Given the description of an element on the screen output the (x, y) to click on. 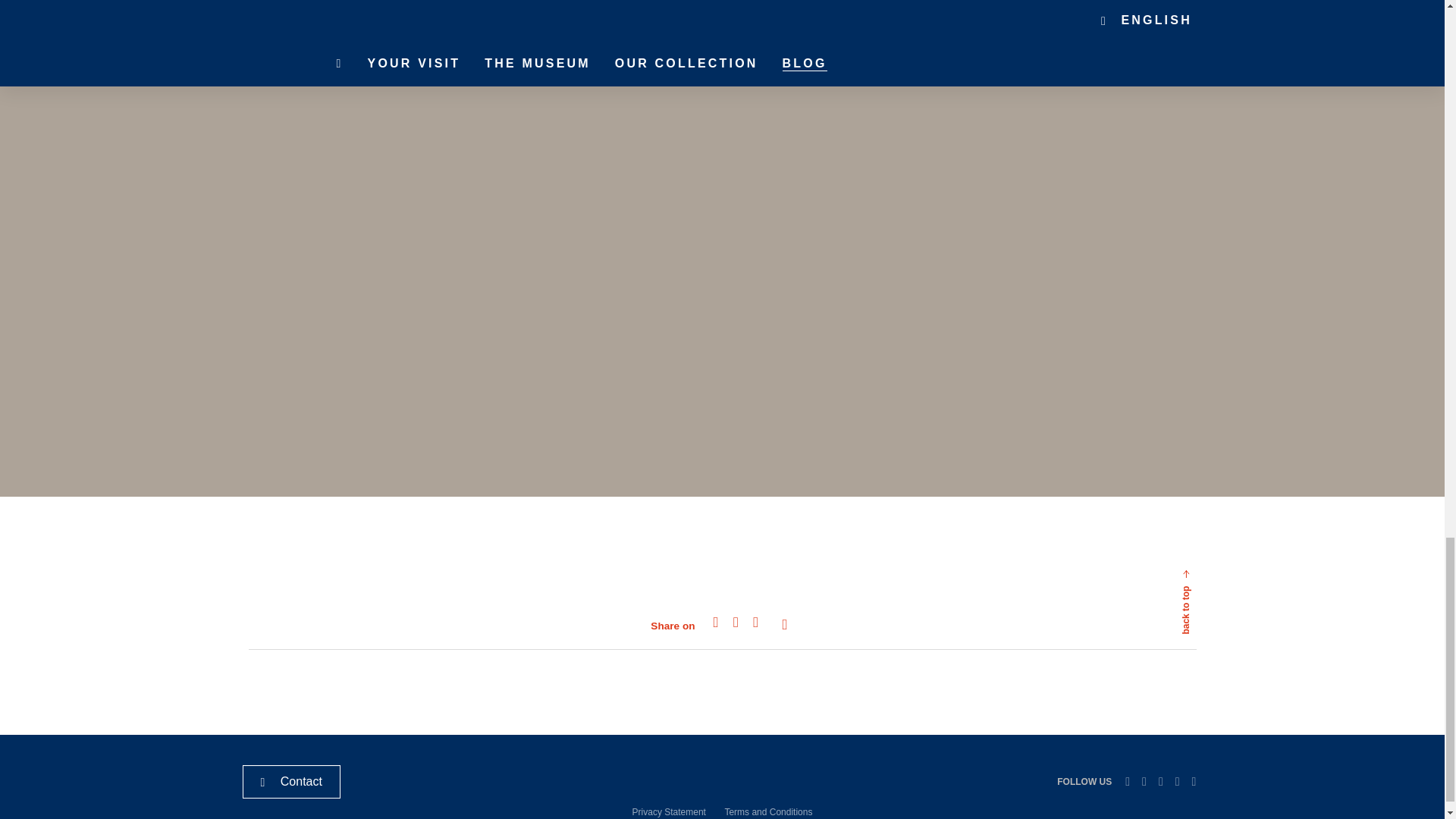
YouTube (1194, 781)
back to top (1150, 624)
Privacy Statement (668, 811)
Terms and Conditions (767, 811)
LinkedIn (1127, 781)
back to top (1222, 552)
Contact (291, 781)
Instagram (1177, 781)
Twitter (1144, 781)
back to top (1222, 552)
Facebook (1161, 781)
